Given the description of an element on the screen output the (x, y) to click on. 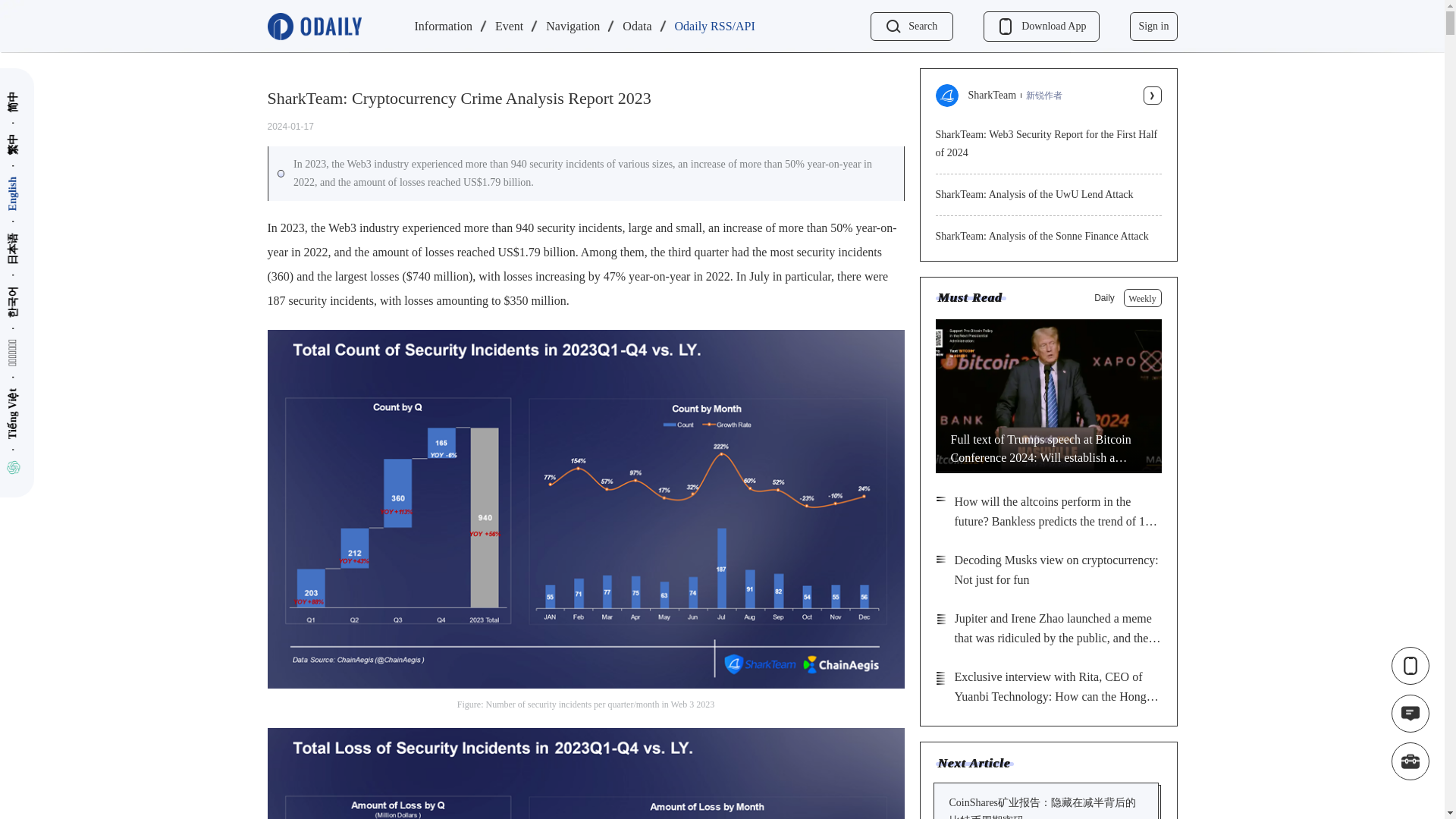
Information (442, 26)
Navigation (572, 26)
